Given the description of an element on the screen output the (x, y) to click on. 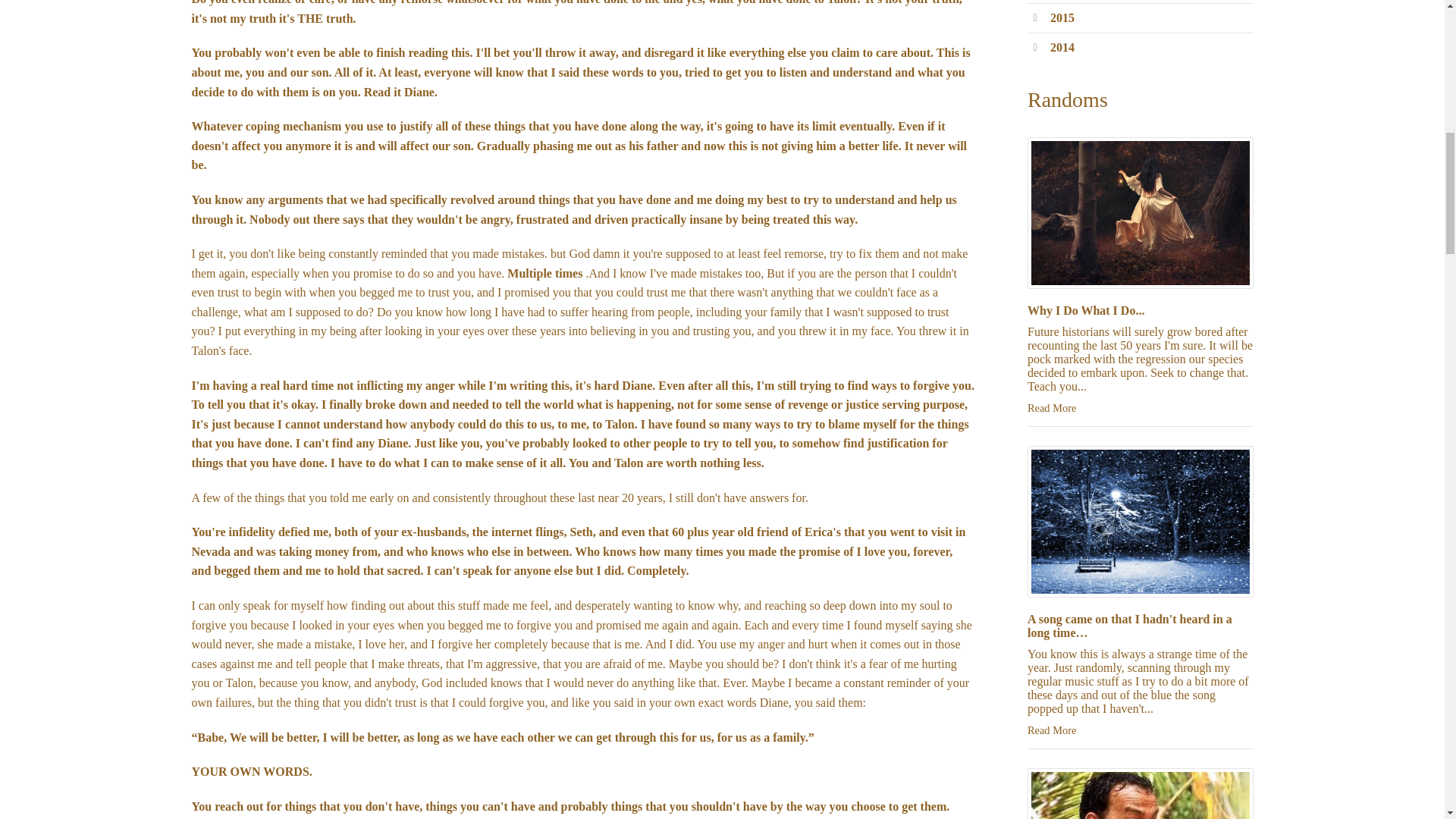
wehavefire (1140, 793)
falling-snow-winter-night-outtipc17kyh2mr1 (1140, 521)
Why I Do What I Do... (1085, 309)
